Given the description of an element on the screen output the (x, y) to click on. 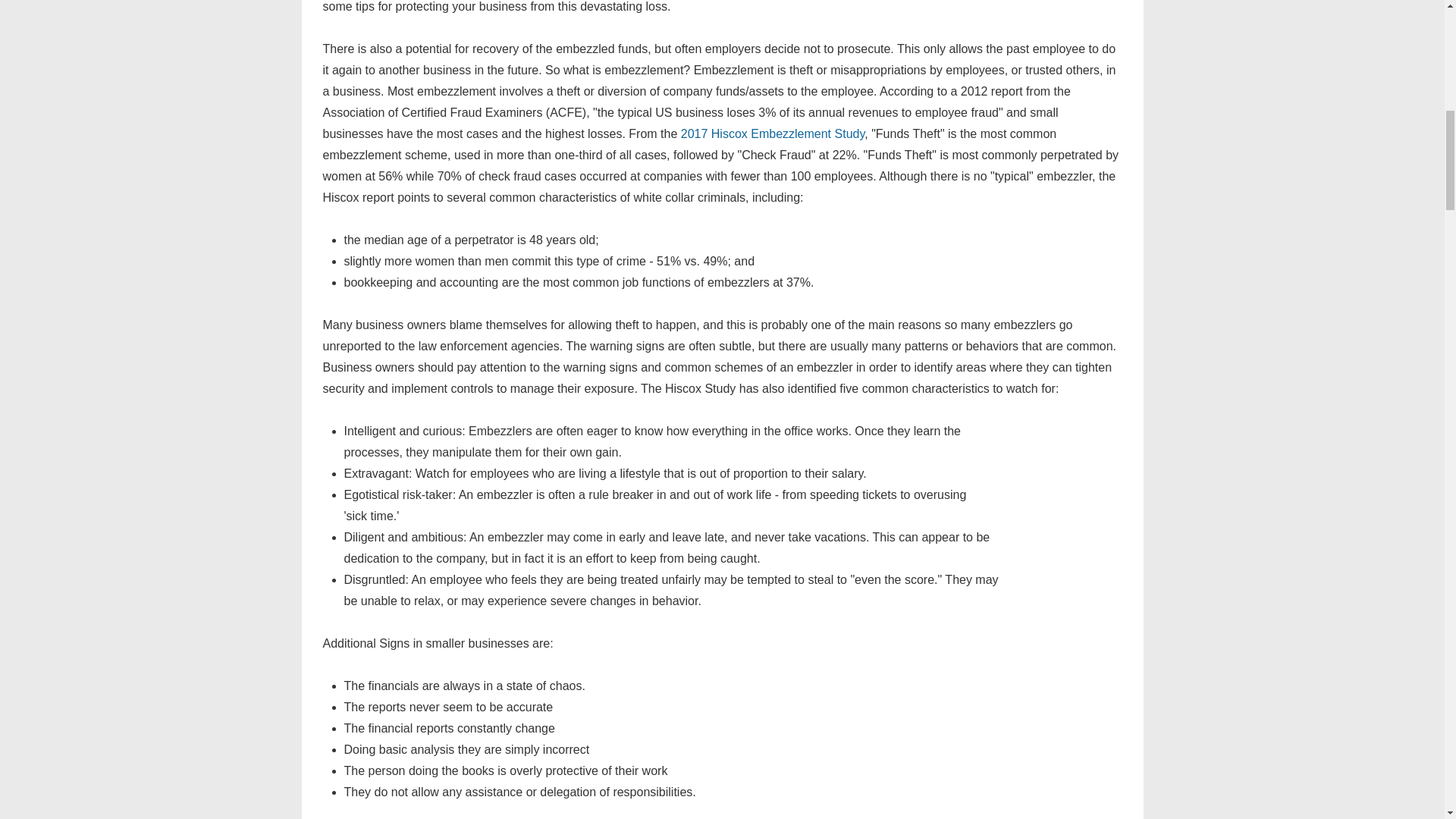
2017 Hiscox Embezzlement Study (772, 133)
